Given the description of an element on the screen output the (x, y) to click on. 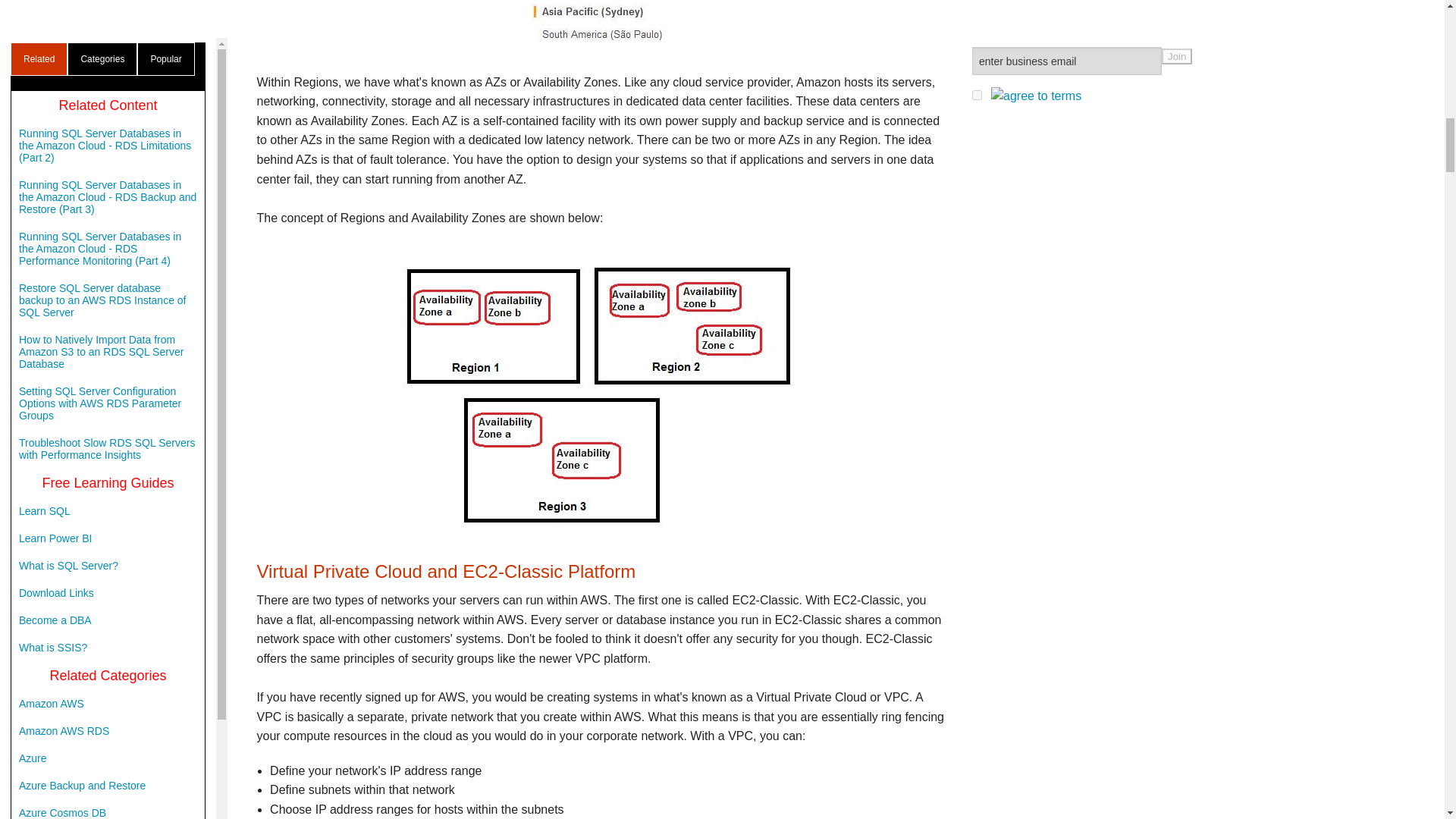
enter business email (1066, 60)
Join (1176, 56)
1 (976, 94)
